Given the description of an element on the screen output the (x, y) to click on. 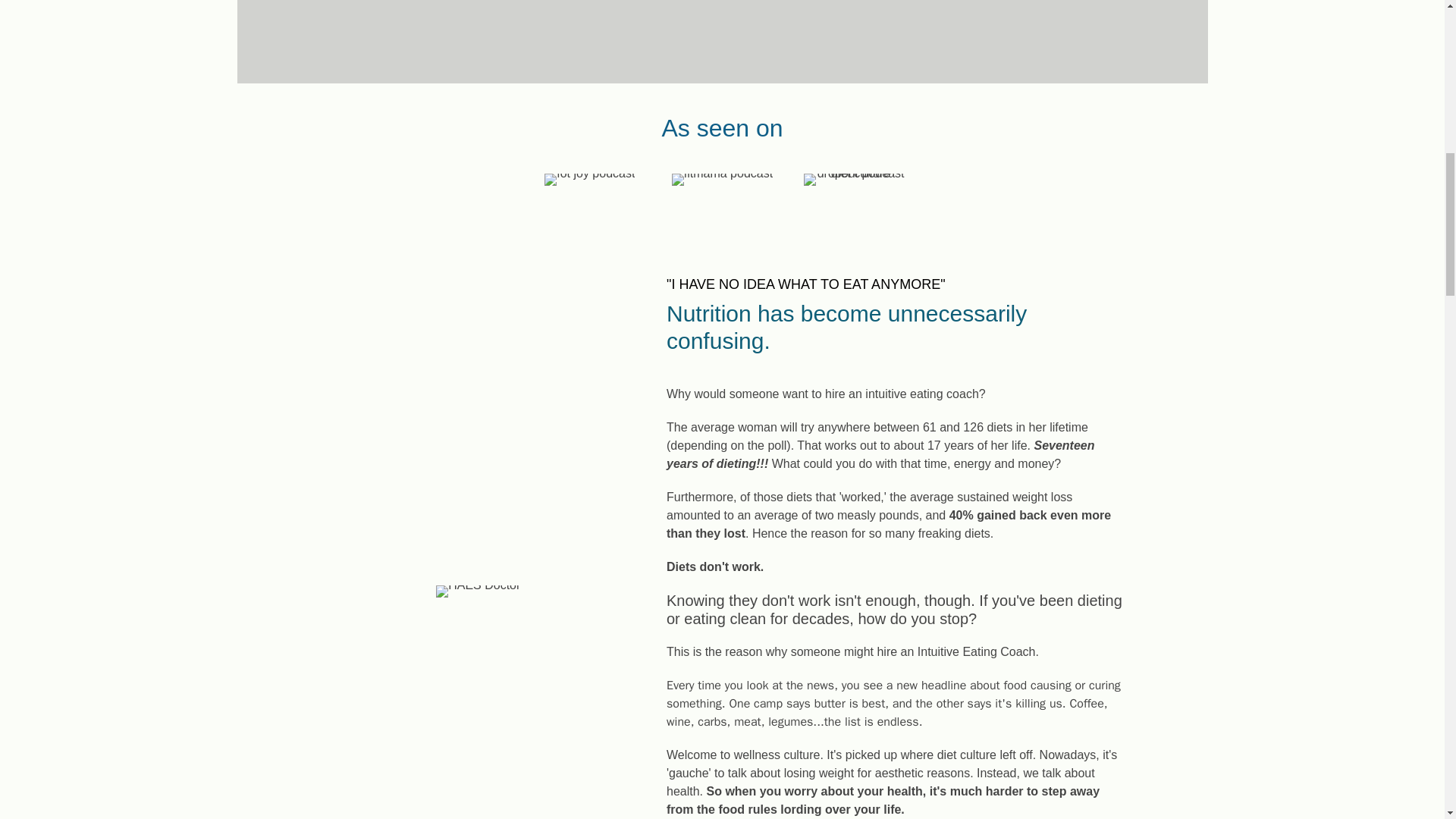
fitmama podcast (722, 178)
diet culture dropout podcast (854, 178)
fot joy podcast (589, 178)
HAES Doctor (477, 591)
